Given the description of an element on the screen output the (x, y) to click on. 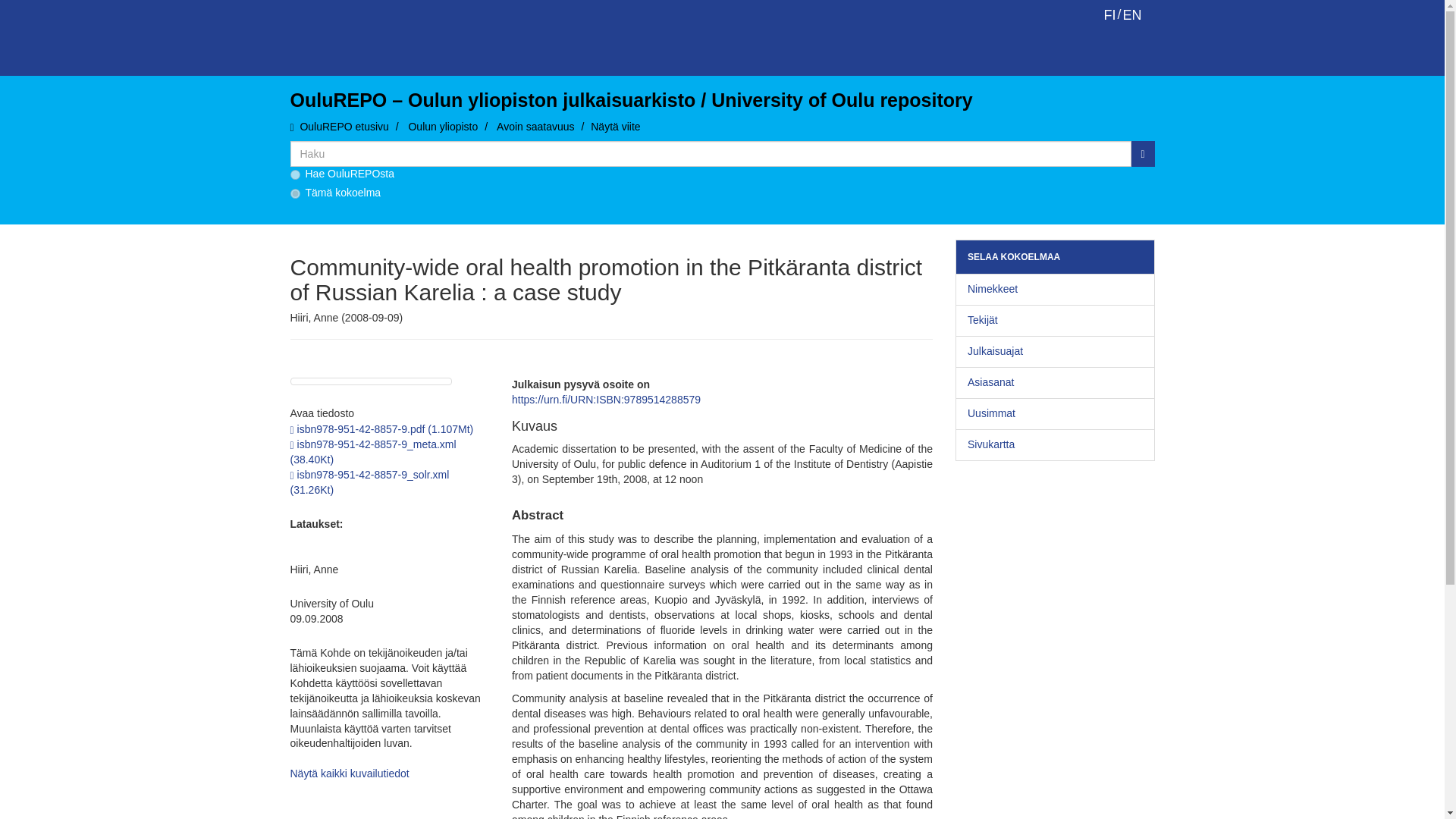
Hae (1142, 153)
Uusimmat (1054, 413)
Avoin saatavuus (534, 126)
Oulun yliopisto (442, 126)
Nimekkeet (1054, 289)
Asiasanat (1054, 382)
OuluREPO etusivu (343, 126)
Julkaisuajat (1054, 351)
